Given the description of an element on the screen output the (x, y) to click on. 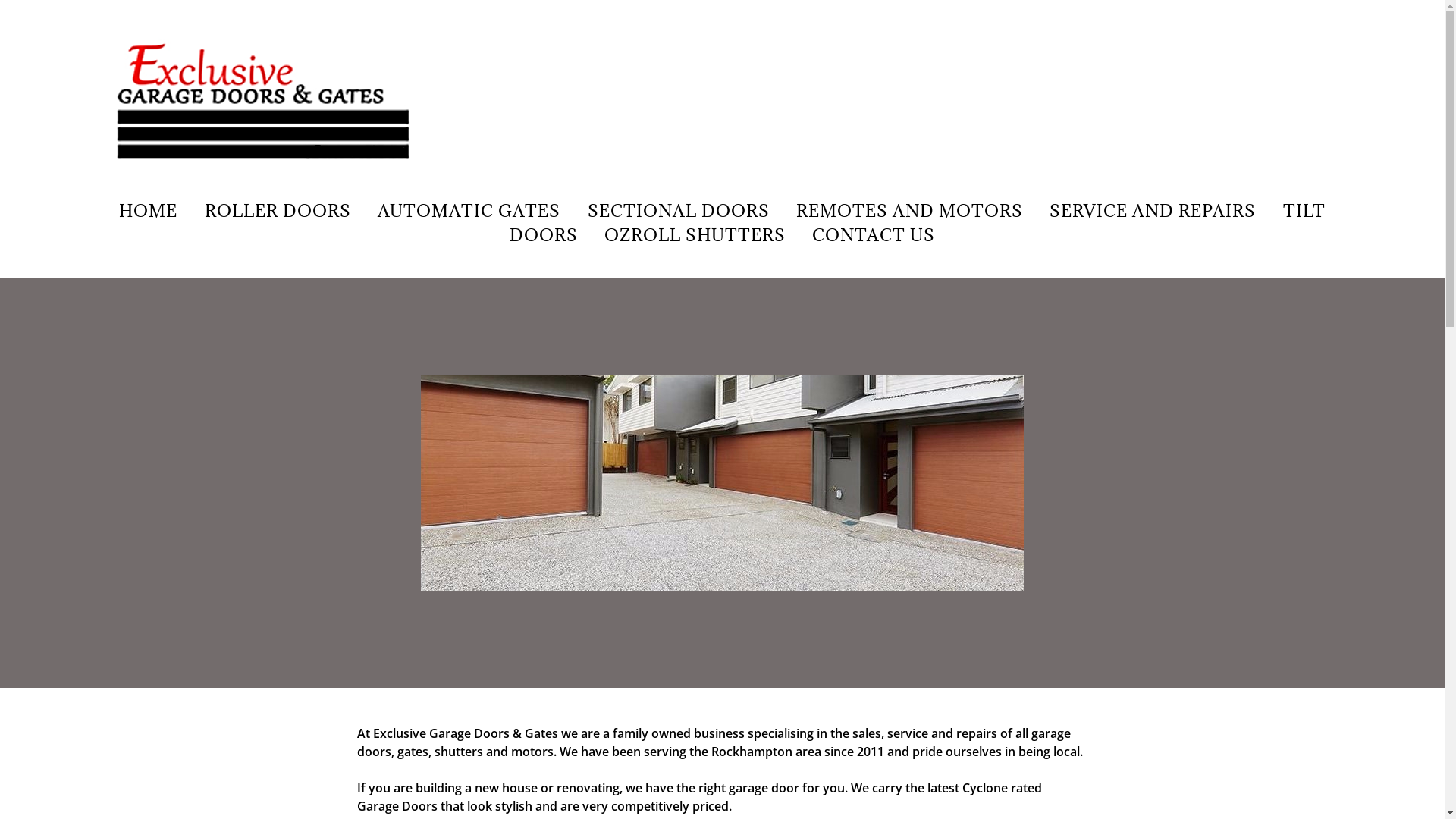
REMOTES AND MOTORS Element type: text (909, 210)
SERVICE AND REPAIRS Element type: text (1152, 210)
OZROLL SHUTTERS Element type: text (694, 234)
HOME Element type: text (148, 210)
ROLLER DOORS Element type: text (277, 210)
TILT DOORS Element type: text (917, 222)
CONTACT US Element type: text (873, 234)
AUTOMATIC GATES Element type: text (468, 210)
SECTIONAL DOORS Element type: text (677, 210)
